Given the description of an element on the screen output the (x, y) to click on. 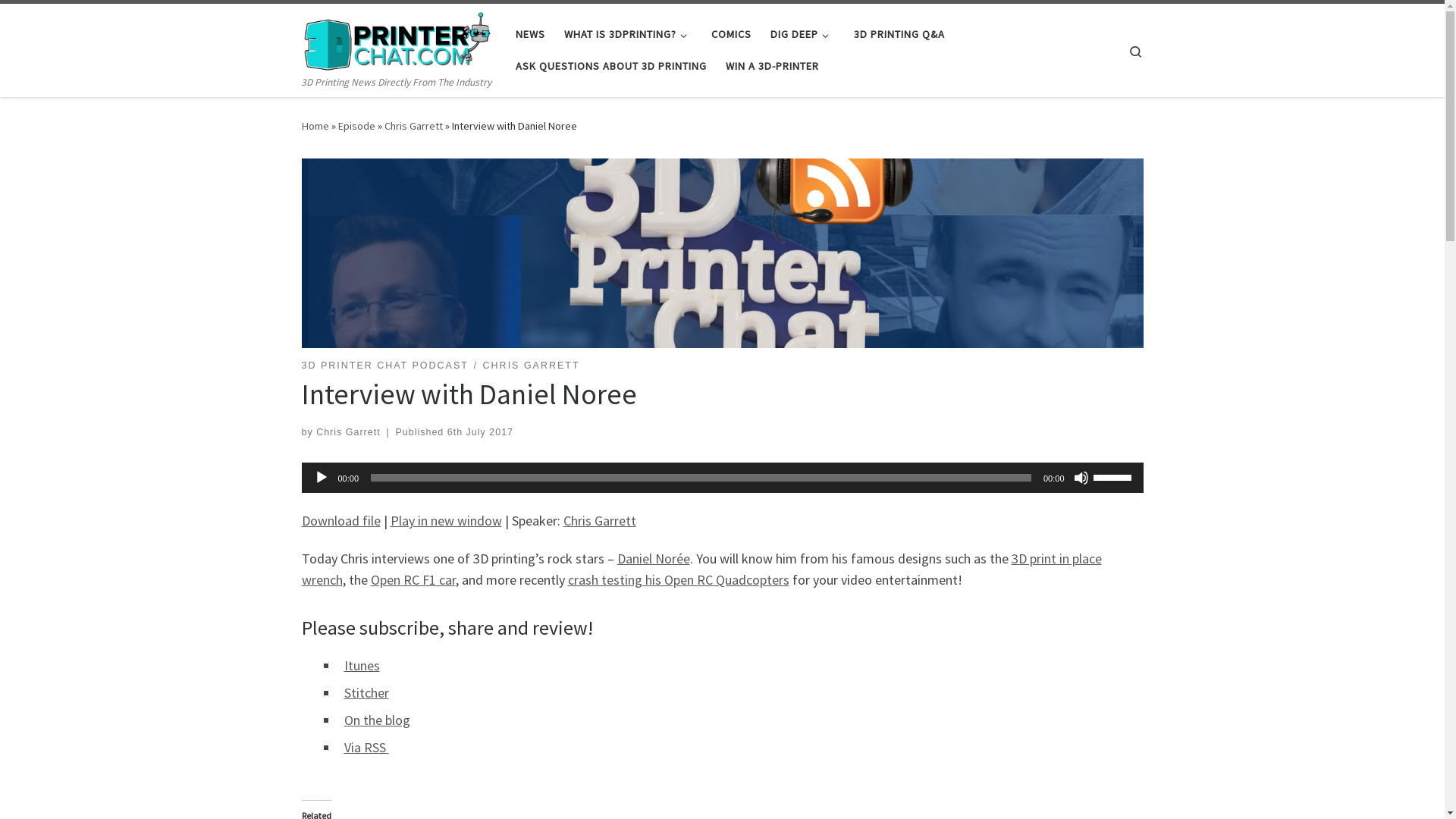
Open RC F1 car Element type: text (412, 579)
6th July 2017 Element type: text (480, 431)
Episode Element type: text (356, 125)
ASK QUESTIONS ABOUT 3D PRINTING Element type: text (611, 65)
Search Element type: text (1135, 50)
Skip to content Element type: text (57, 21)
Stitcher Element type: text (366, 692)
Play in new window Element type: text (445, 520)
3D PRINTING Q&A Element type: text (898, 34)
Chris Garrett Element type: text (598, 520)
3D PRINTER CHAT PODCAST Element type: text (384, 365)
Mute Element type: hover (1080, 477)
Home Element type: text (315, 125)
NEWS Element type: text (530, 34)
crash testing his Open RC Quadcopters Element type: text (677, 579)
Via RSS  Element type: text (366, 747)
WIN A 3D-PRINTER Element type: text (772, 65)
COMICS Element type: text (731, 34)
Use Up/Down Arrow keys to increase or decrease volume. Element type: text (1114, 475)
DIG DEEP Element type: text (802, 34)
CHRIS GARRETT Element type: text (531, 365)
WHAT IS 3DPRINTING? Element type: text (628, 34)
3D print in place wrench Element type: text (701, 568)
Download file Element type: text (340, 520)
Play Element type: hover (321, 477)
Itunes Element type: text (361, 665)
Chris Garrett Element type: text (347, 431)
Chris Garrett Element type: text (412, 125)
On the blog Element type: text (377, 719)
